Given the description of an element on the screen output the (x, y) to click on. 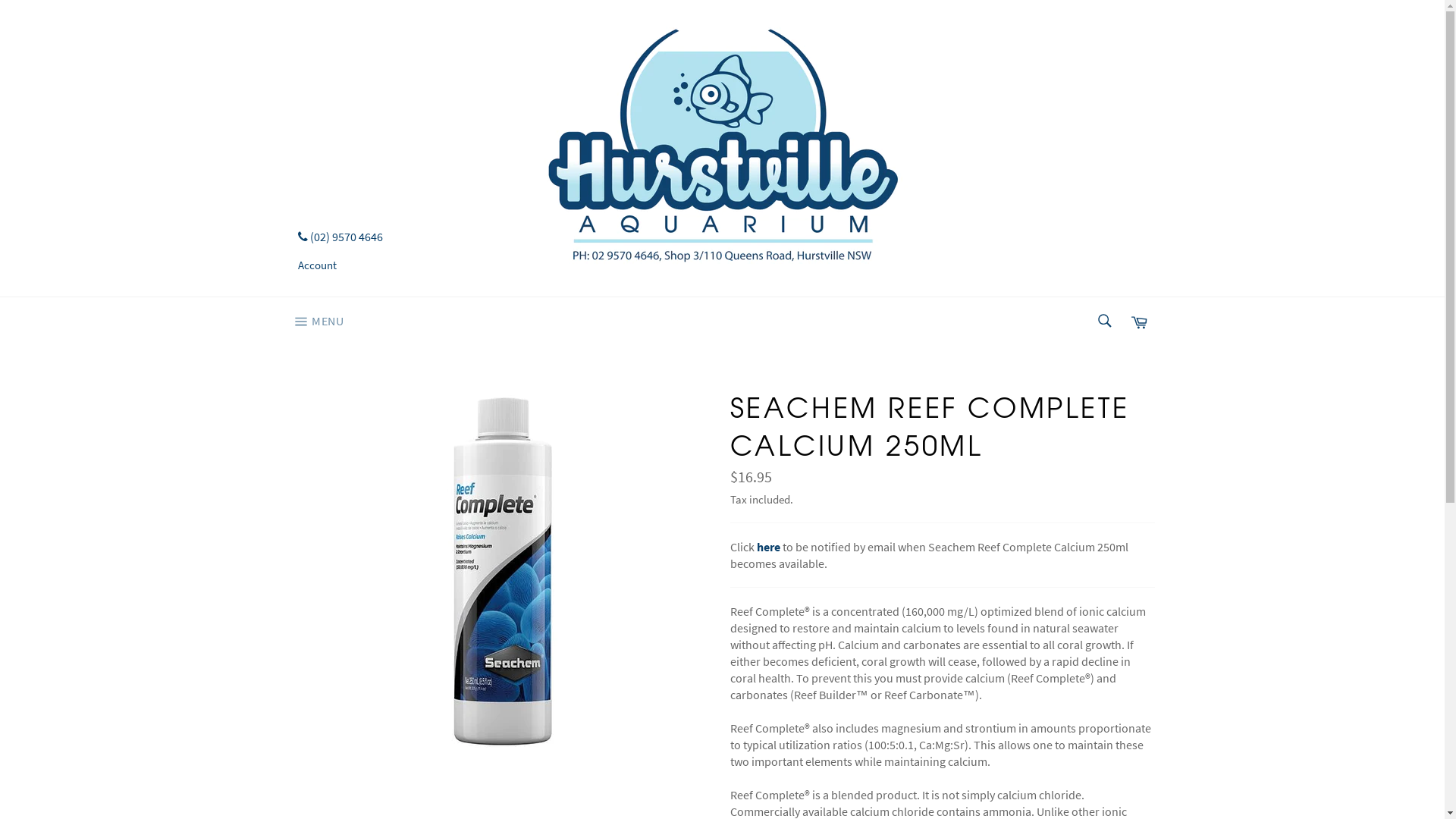
here Element type: text (768, 546)
Search Element type: text (1102, 320)
(02) 9570 4646 Element type: text (339, 236)
Account Element type: text (316, 265)
Cart Element type: text (1138, 322)
MENU
SITE NAVIGATION Element type: text (316, 321)
